Given the description of an element on the screen output the (x, y) to click on. 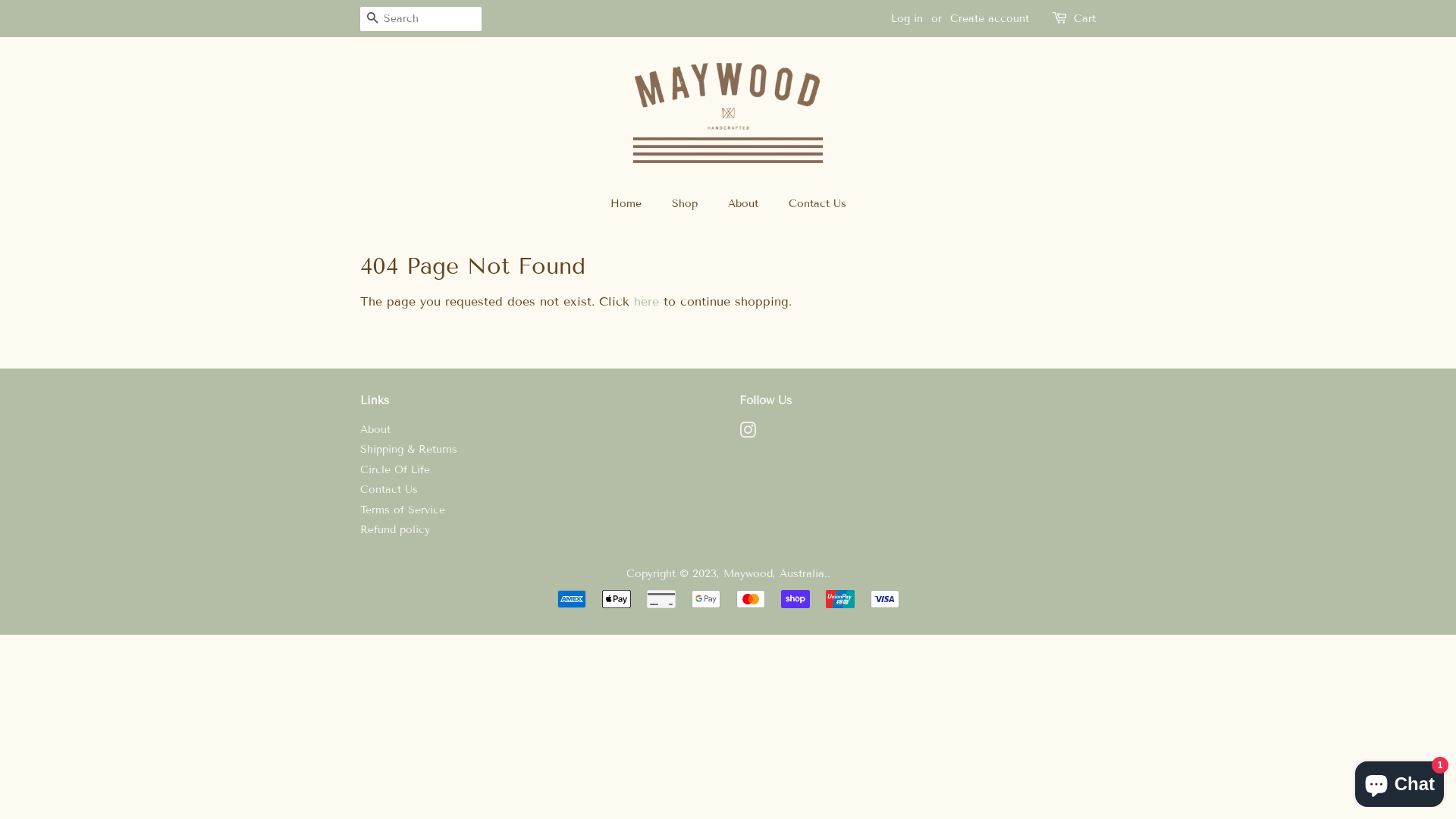
Shopify online store chat Element type: hover (1399, 780)
Log in Element type: text (906, 18)
Create account Element type: text (989, 18)
About Element type: text (743, 203)
Contact Us Element type: text (810, 203)
Shipping & Returns Element type: text (408, 448)
Search Element type: text (372, 18)
Contact Us Element type: text (388, 489)
Circle Of Life Element type: text (394, 469)
Maywood, Australia. Element type: text (775, 573)
Terms of Service Element type: text (402, 509)
Instagram Element type: text (747, 432)
Refund policy Element type: text (394, 529)
Shop Element type: text (685, 203)
Cart Element type: text (1084, 18)
Home Element type: text (632, 203)
About Element type: text (375, 429)
here Element type: text (645, 301)
